Given the description of an element on the screen output the (x, y) to click on. 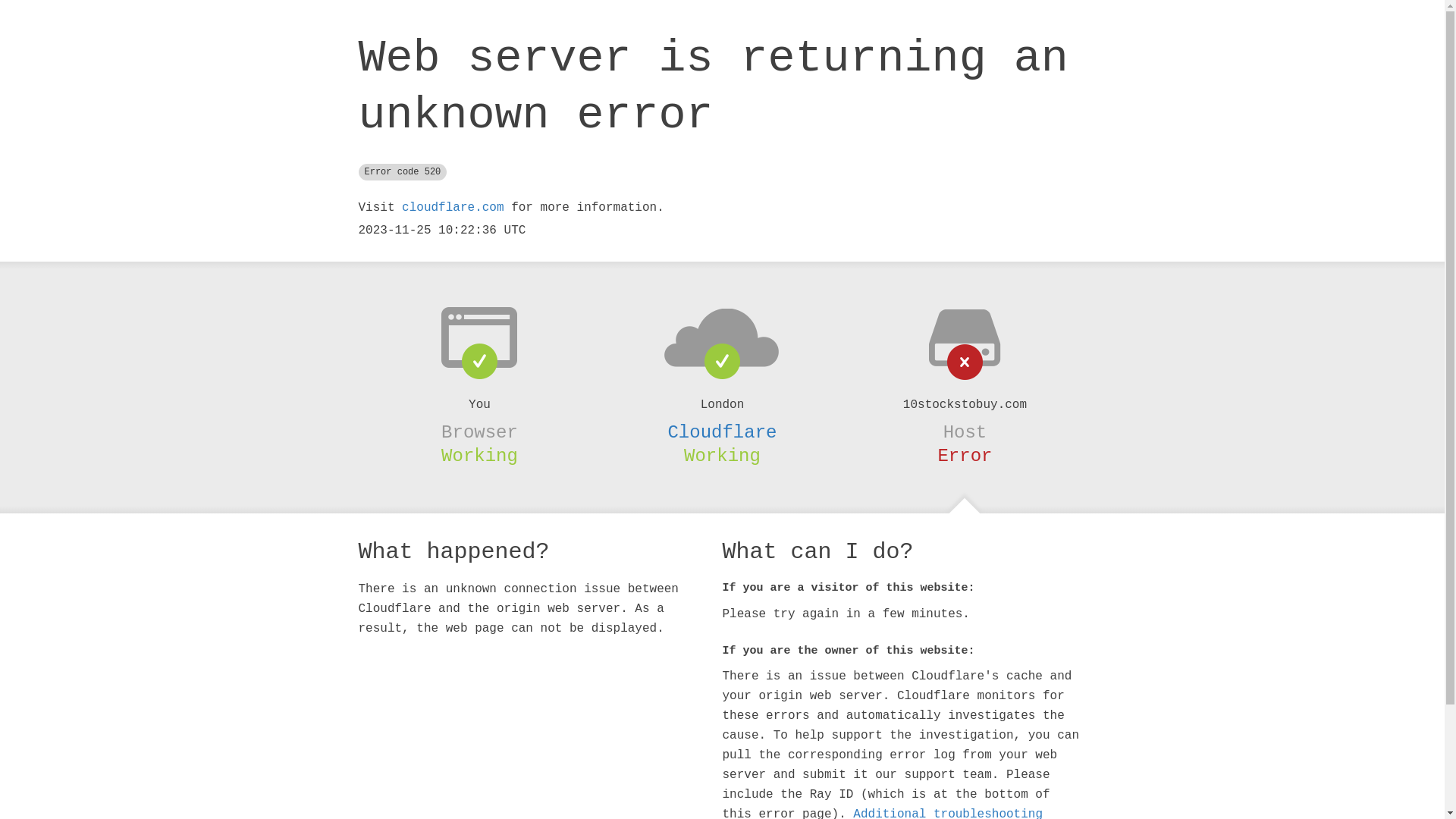
cloudflare.com Element type: text (452, 207)
Cloudflare Element type: text (721, 432)
